Given the description of an element on the screen output the (x, y) to click on. 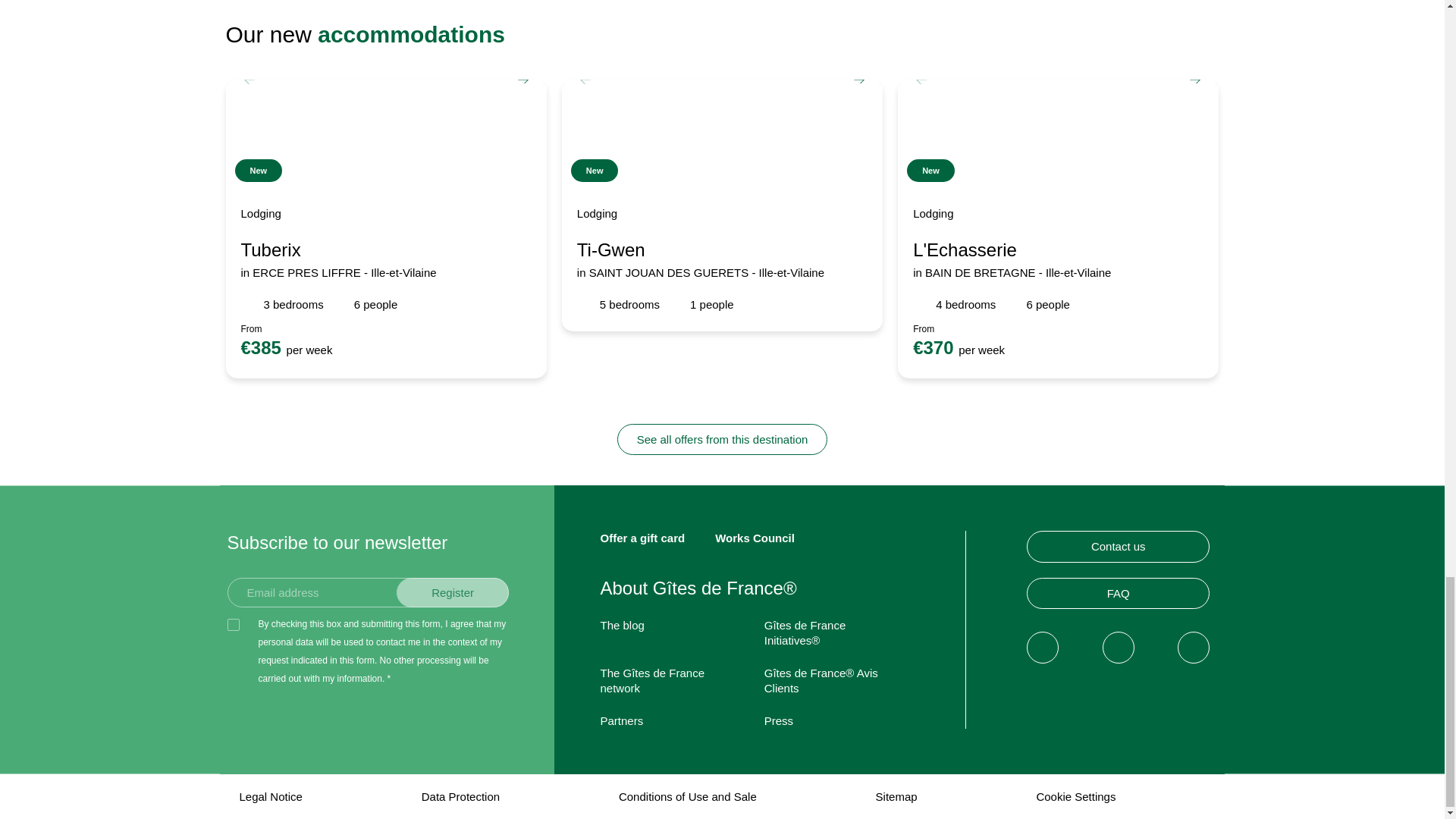
Le blog (621, 625)
1 (233, 624)
The Works Council website (754, 538)
Register (452, 592)
